Given the description of an element on the screen output the (x, y) to click on. 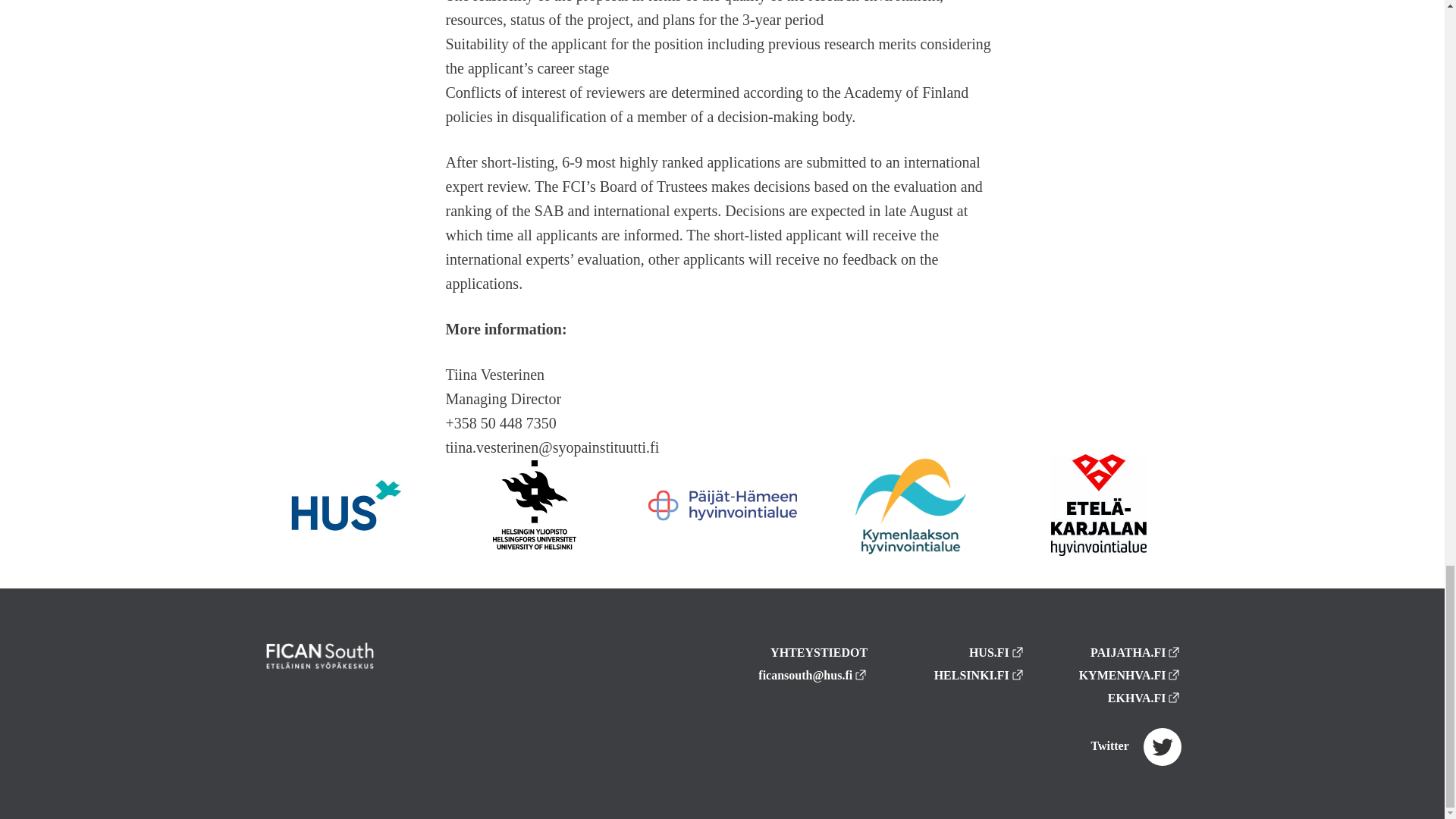
Twitter (1135, 745)
HUS.FI (997, 652)
HELSINKI.FI (979, 675)
KYMENHVA.FI (1129, 675)
PAIJATHA.FI (1135, 652)
EKHVA.FI (1144, 697)
